Given the description of an element on the screen output the (x, y) to click on. 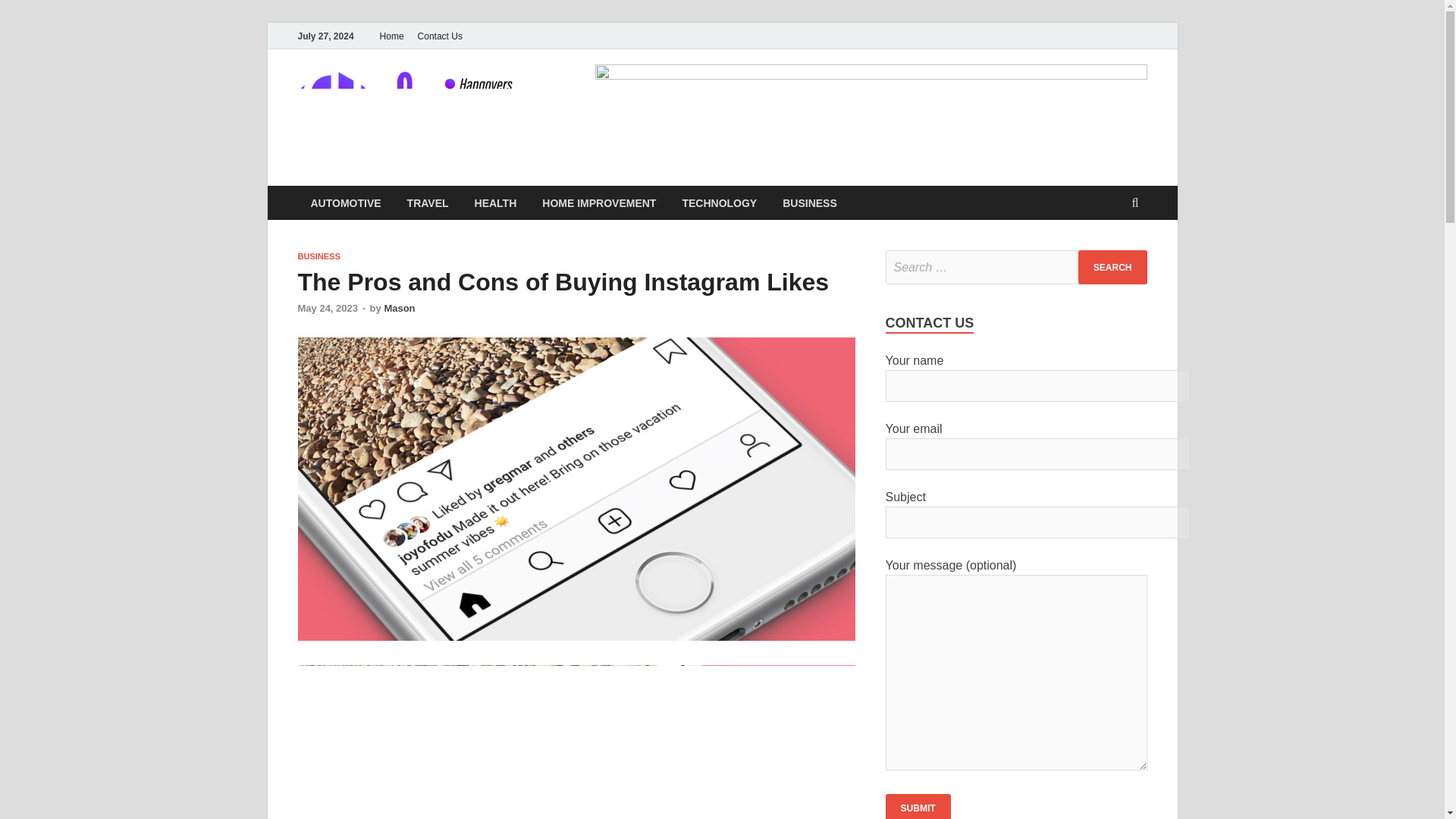
HEALTH (495, 202)
Contact Us (439, 35)
Search (1112, 267)
Search (1112, 267)
BUSINESS (810, 202)
AUTOMOTIVE (345, 202)
BUSINESS (318, 256)
Helping Hangovers (661, 100)
Search (1112, 267)
Submit (917, 806)
Home (391, 35)
TRAVEL (427, 202)
May 24, 2023 (327, 307)
HOME IMPROVEMENT (598, 202)
TECHNOLOGY (719, 202)
